Given the description of an element on the screen output the (x, y) to click on. 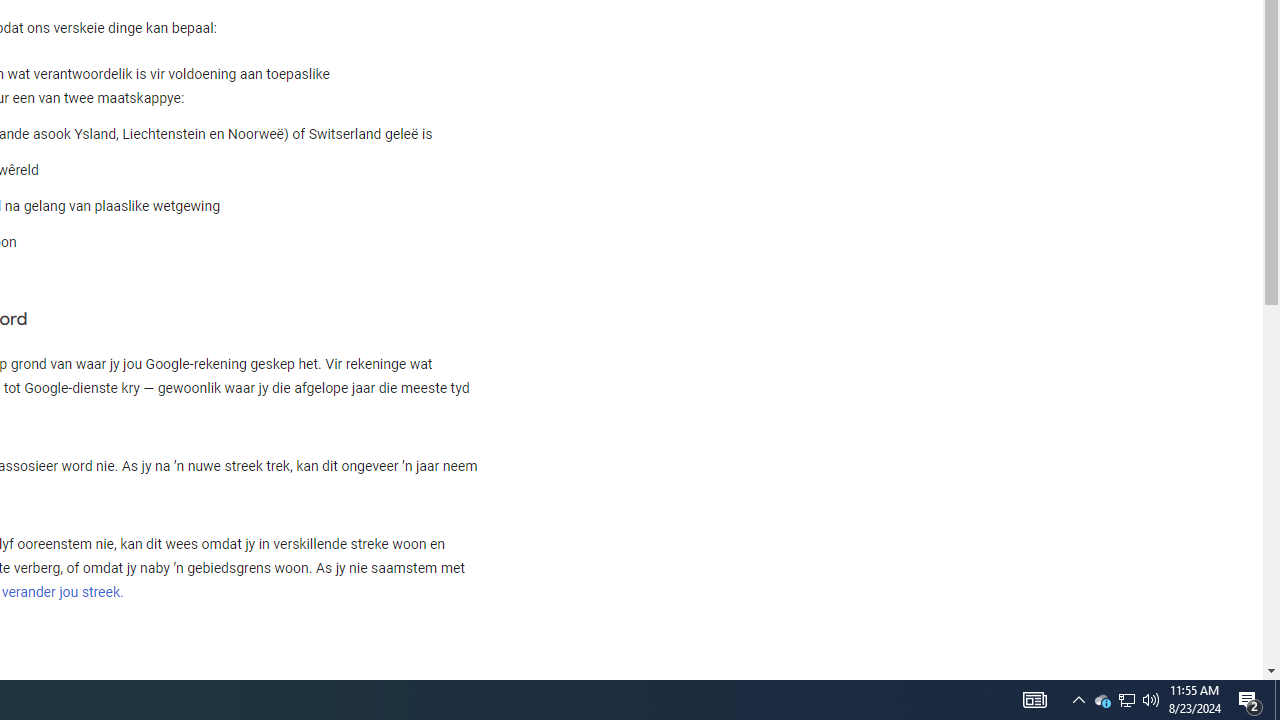
verander jou streek. (62, 592)
